Given the description of an element on the screen output the (x, y) to click on. 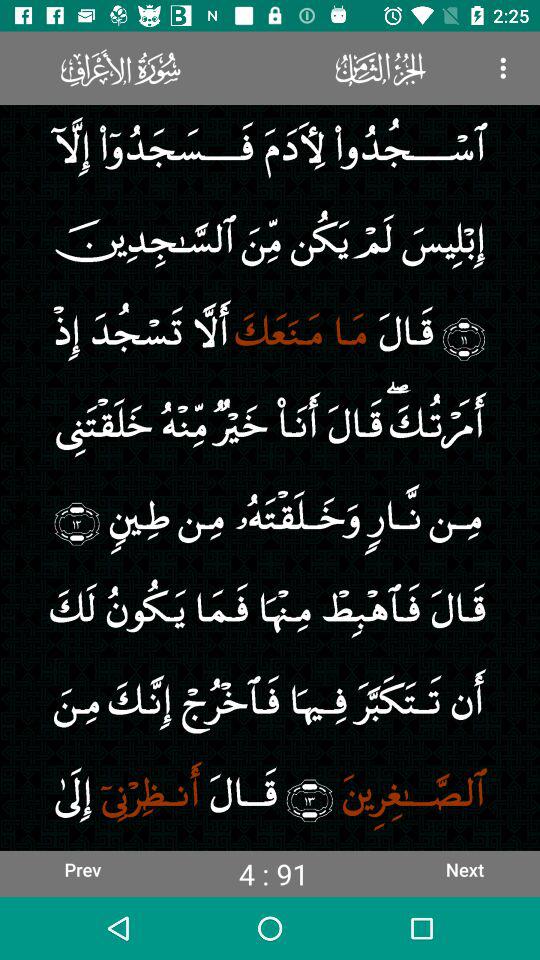
launch the icon at the bottom left corner (82, 869)
